Given the description of an element on the screen output the (x, y) to click on. 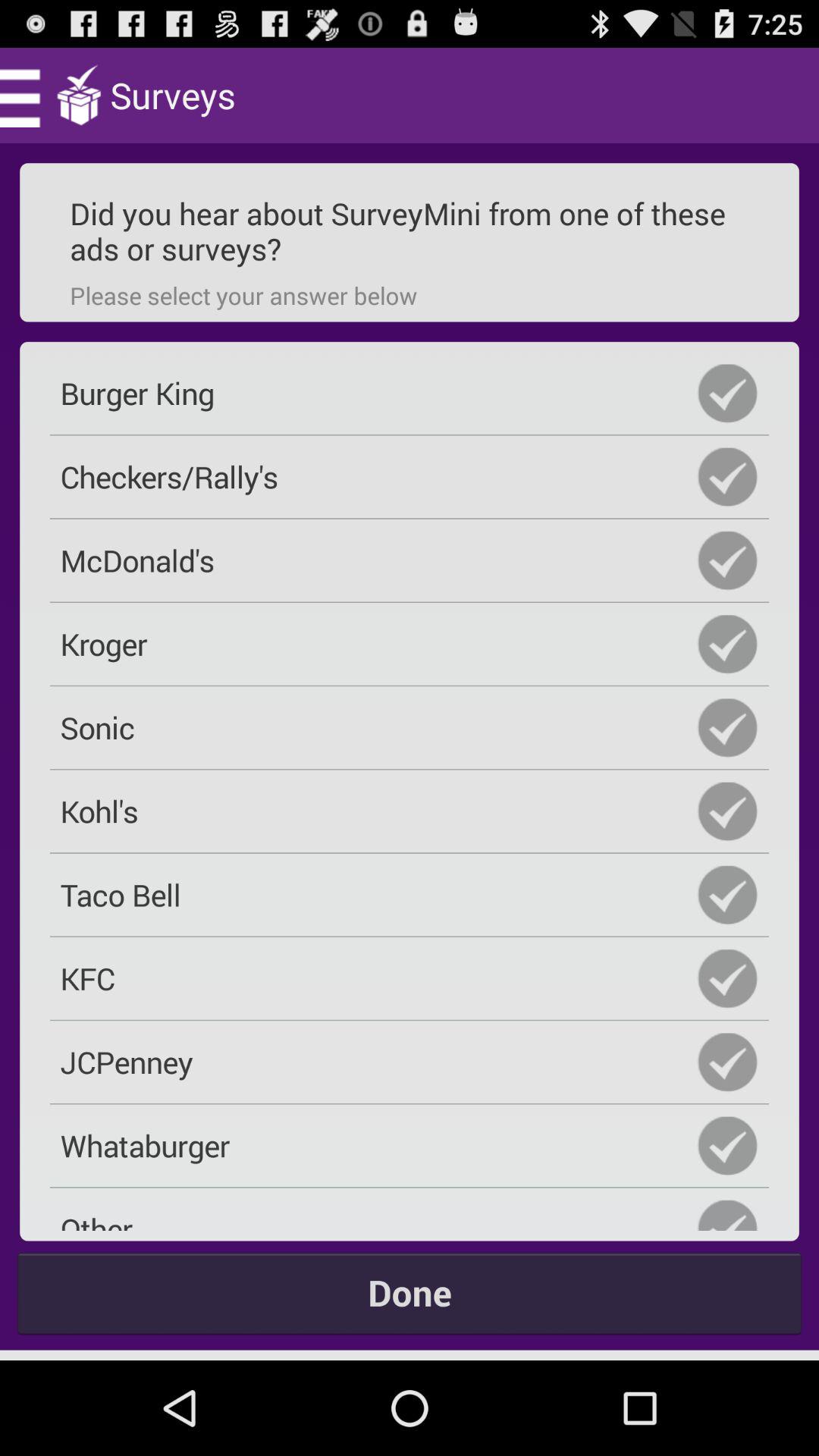
scroll to the jcpenney (409, 1061)
